Given the description of an element on the screen output the (x, y) to click on. 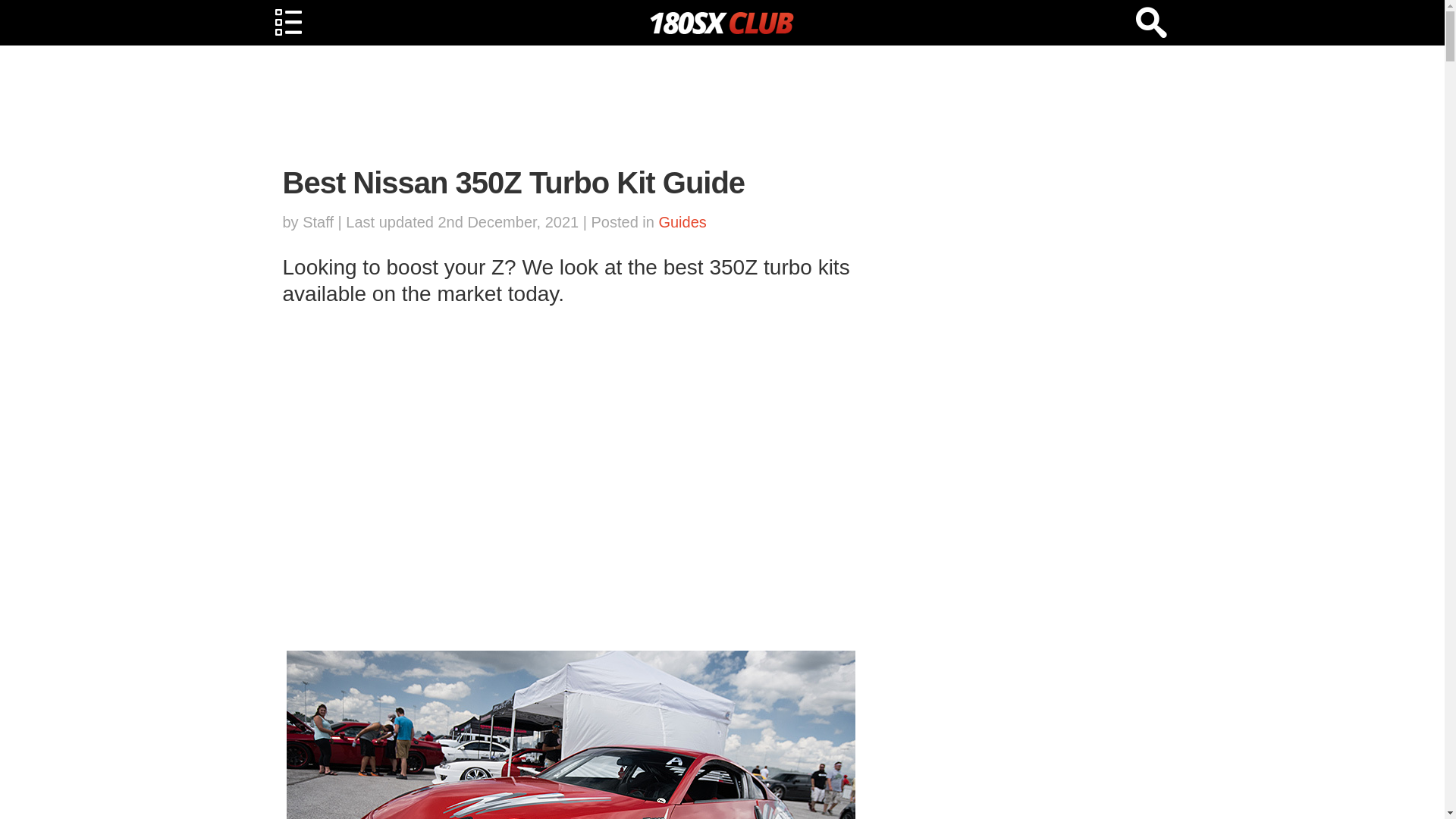
Guides (682, 221)
Guides (682, 221)
180sx Club (721, 22)
